Given the description of an element on the screen output the (x, y) to click on. 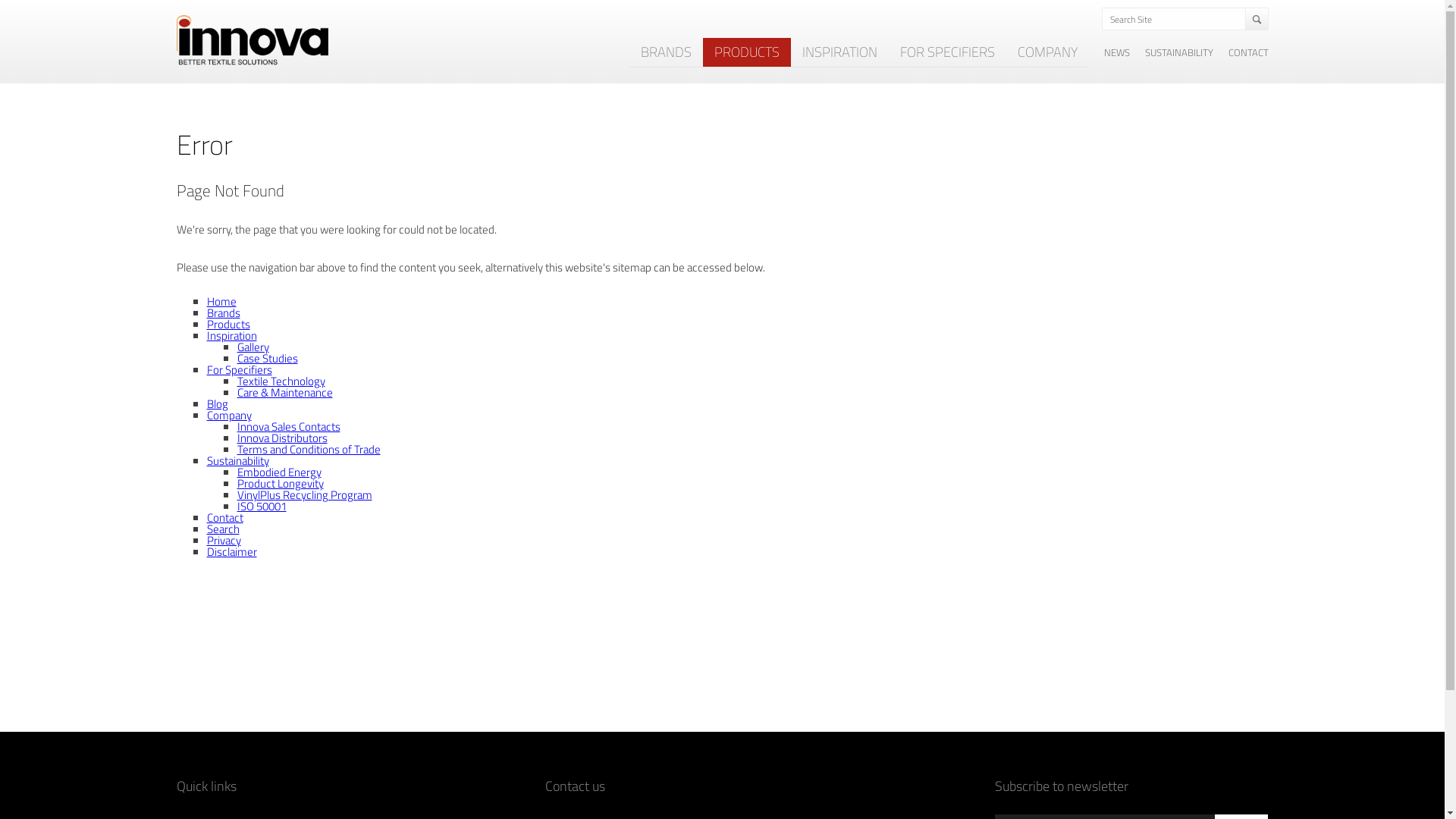
Privacy Element type: text (223, 540)
Home Element type: text (220, 301)
INSPIRATION Element type: text (839, 51)
Products Element type: text (227, 323)
Company Element type: text (228, 414)
Gallery Element type: text (252, 346)
Care & Maintenance Element type: text (284, 392)
Innova Distributors Element type: text (281, 437)
Inspiration Element type: text (231, 335)
Product Longevity Element type: text (279, 483)
PRODUCTS Element type: text (746, 51)
Terms and Conditions of Trade Element type: text (307, 449)
Sustainability Element type: text (237, 460)
Disclaimer Element type: text (231, 551)
FOR SPECIFIERS Element type: text (947, 51)
SUSTAINABILITY Element type: text (1179, 52)
VinylPlus Recycling Program Element type: text (303, 494)
ISO 50001 Element type: text (260, 505)
Case Studies Element type: text (266, 358)
Embodied Energy Element type: text (278, 471)
Textile Technology Element type: text (280, 380)
Brands Element type: text (222, 312)
BRANDS Element type: text (665, 51)
CONTACT Element type: text (1248, 52)
Innova Sales Contacts Element type: text (287, 426)
COMPANY Element type: text (1046, 51)
Blog Element type: text (216, 403)
For Specifiers Element type: text (238, 369)
Search Element type: text (222, 528)
NEWS Element type: text (1116, 52)
Contact Element type: text (224, 517)
